Given the description of an element on the screen output the (x, y) to click on. 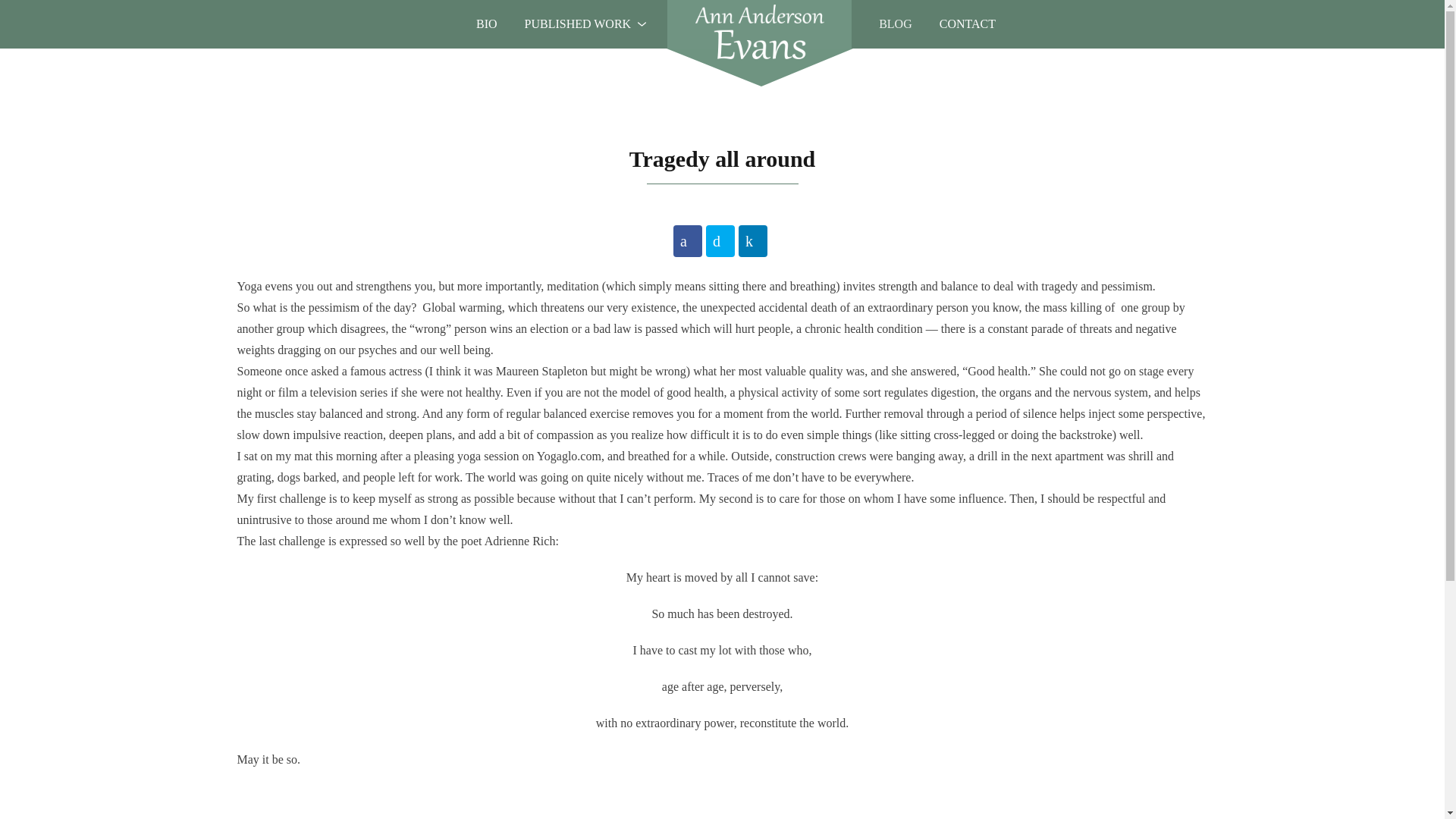
Share on Twitter (720, 241)
CONTACT (967, 23)
Share on Facebook (686, 241)
Bio (721, 24)
Contact (486, 23)
PUBLISHED WORK (967, 23)
Published Work (577, 23)
Share on LinkedIn (577, 23)
Blog (752, 241)
BIO (895, 23)
BLOG (486, 23)
